Given the description of an element on the screen output the (x, y) to click on. 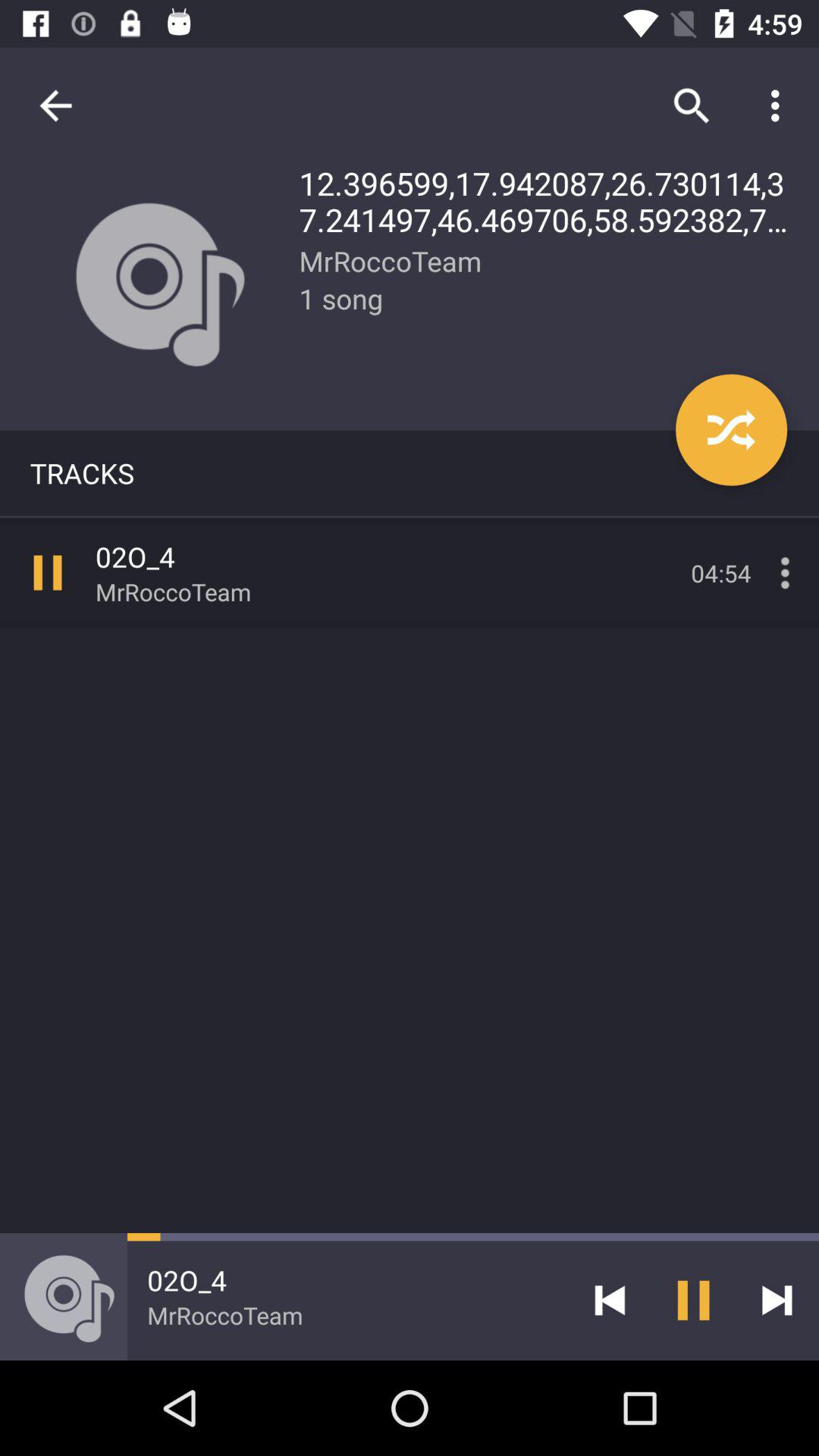
select icon next to the 12 396599 17 (55, 105)
